Given the description of an element on the screen output the (x, y) to click on. 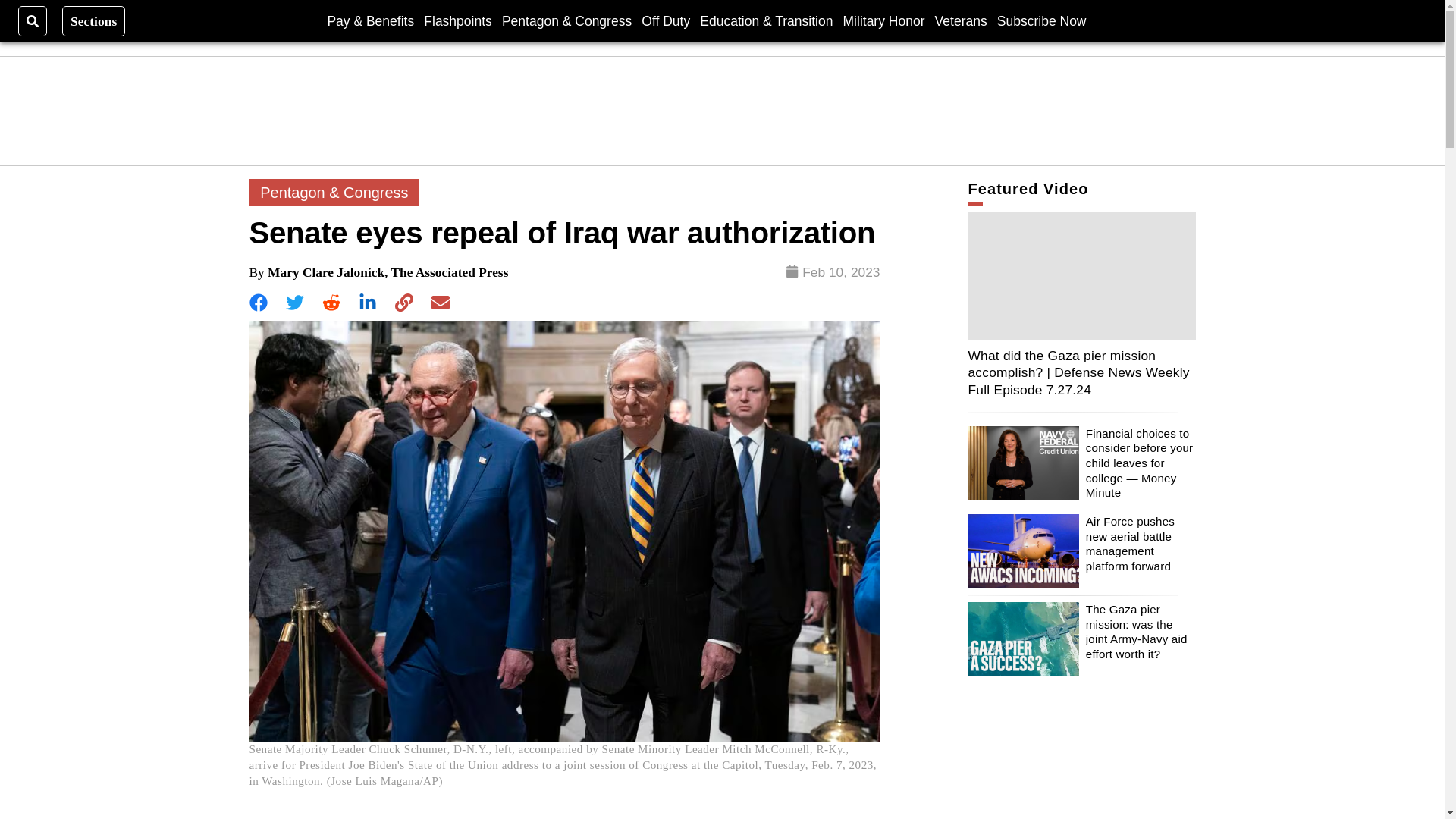
Sections (93, 20)
Flashpoints (457, 20)
Veterans (960, 20)
Off Duty (666, 20)
Military Honor (883, 20)
